Given the description of an element on the screen output the (x, y) to click on. 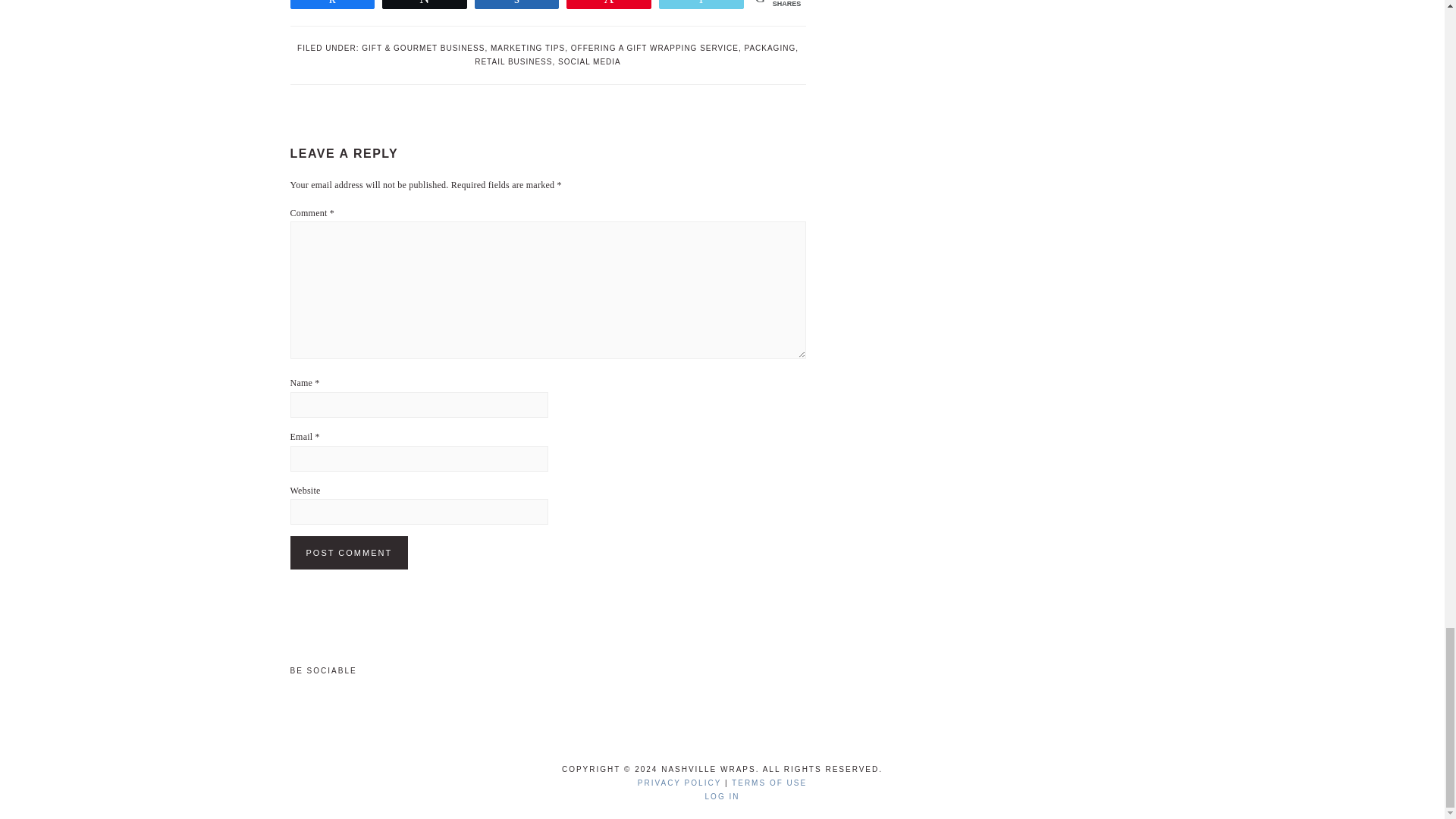
Post Comment (348, 552)
